Given the description of an element on the screen output the (x, y) to click on. 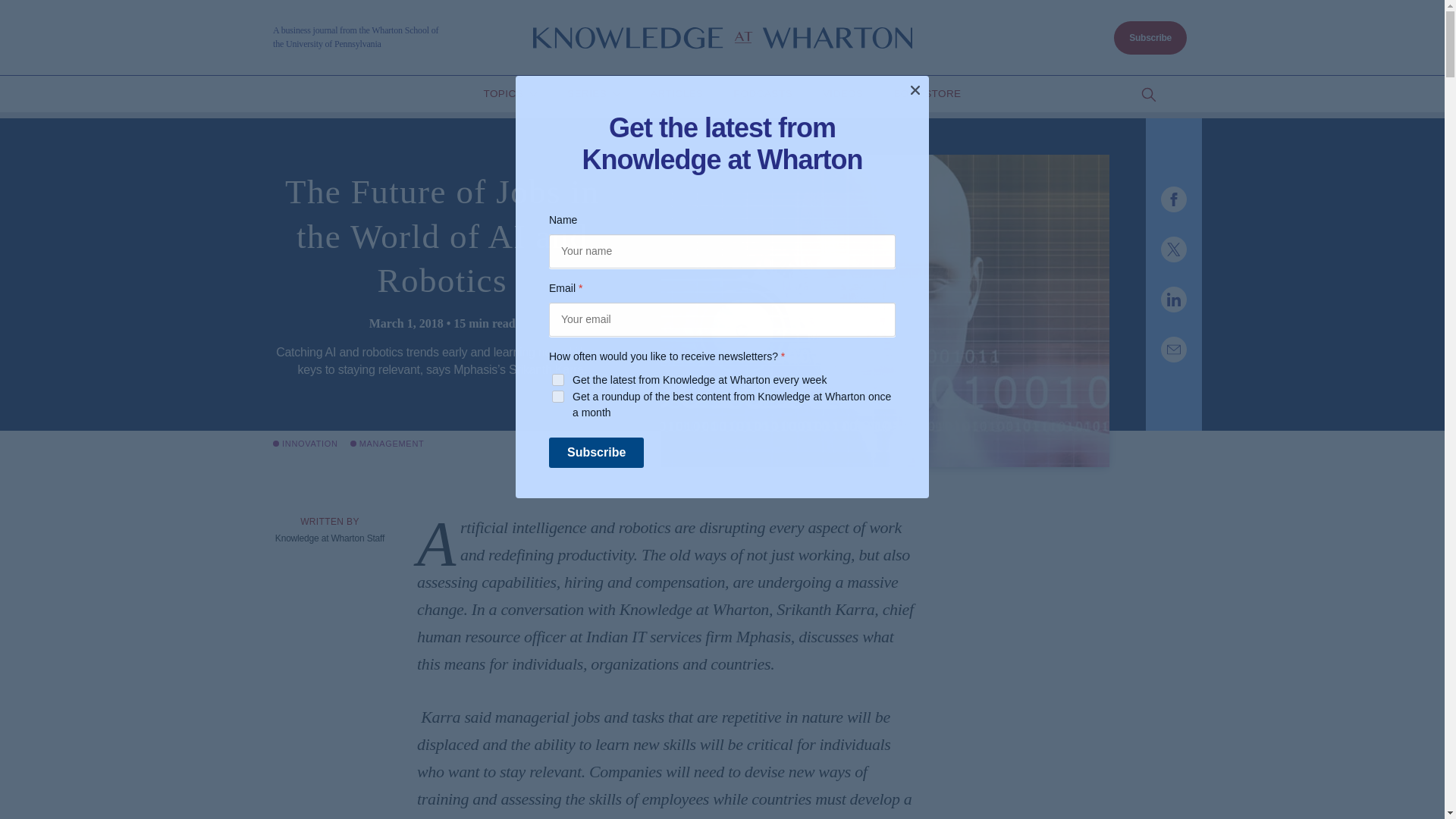
Knowledge at Wharton (721, 37)
Share this page by email (1173, 349)
Go to site search (1148, 94)
Subscribe (1149, 37)
Share this page on LinkedIn (1173, 299)
Share this page on Facebook (1173, 199)
Share this page on Twitter (1173, 249)
